Given the description of an element on the screen output the (x, y) to click on. 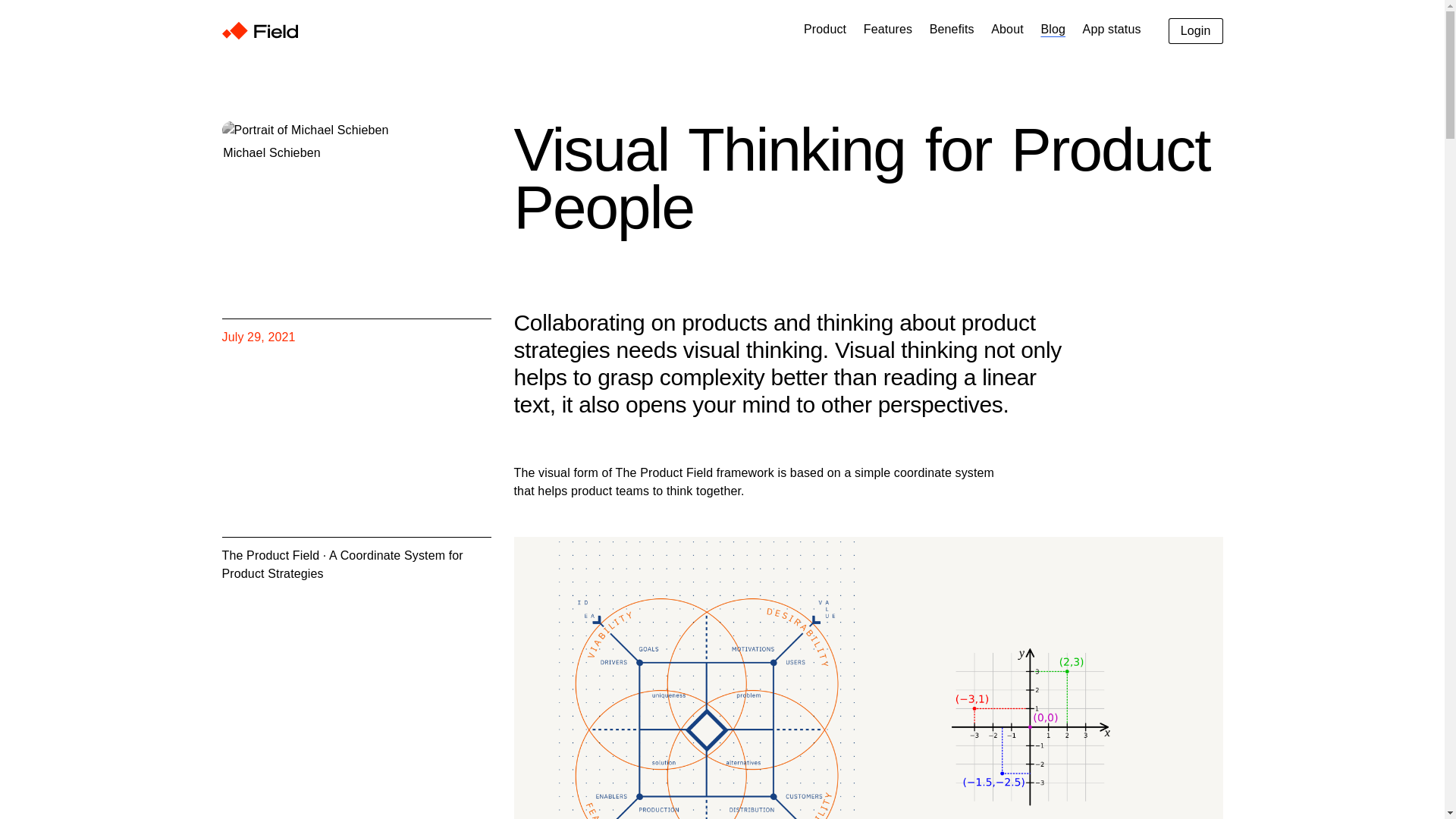
Blog (1053, 29)
Product (824, 29)
Benefits (952, 29)
Features (887, 29)
Got it (1312, 768)
About (1007, 29)
App status (1112, 29)
Learn More (1329, 768)
Login (1196, 31)
